Given the description of an element on the screen output the (x, y) to click on. 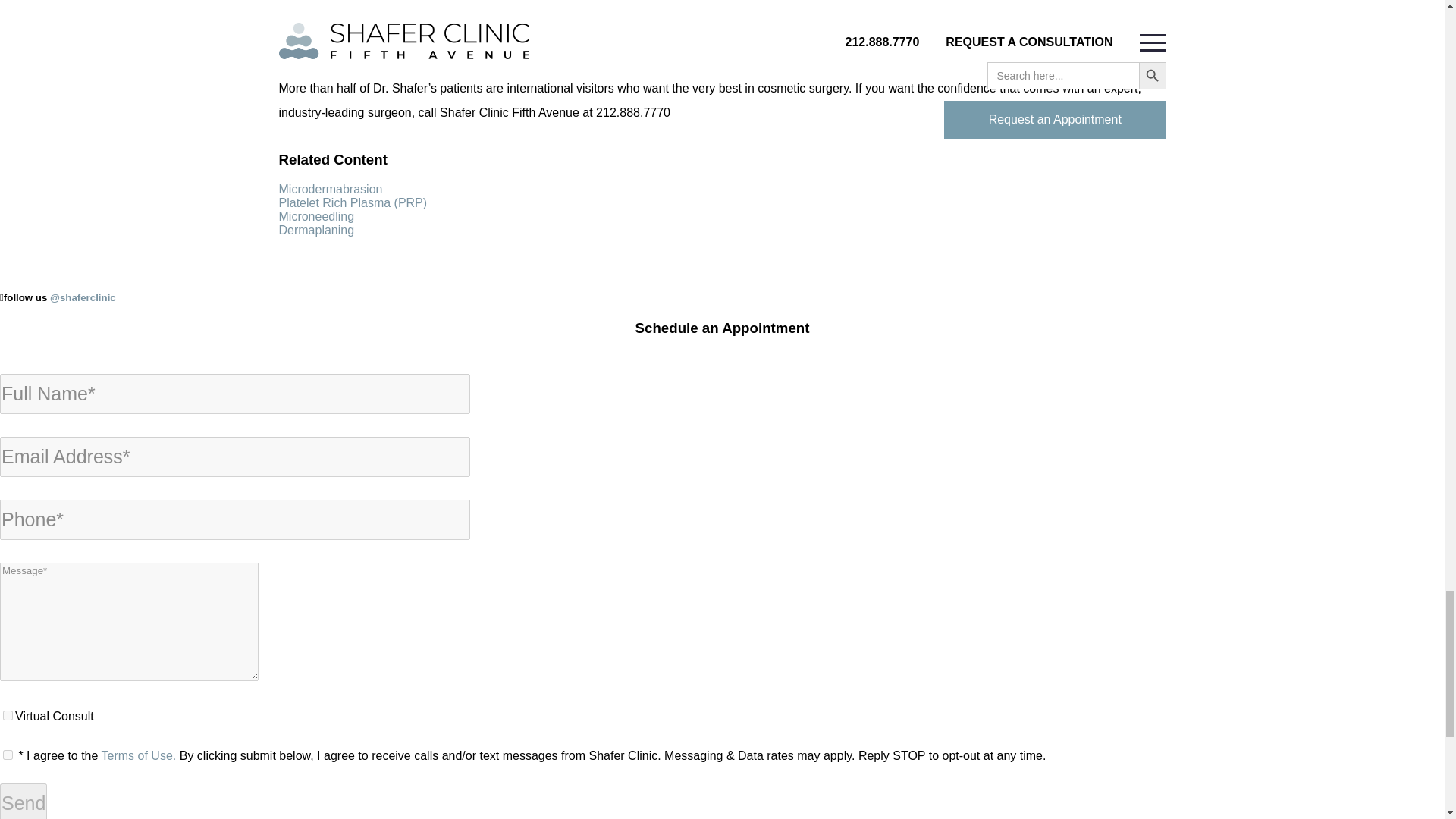
Virtual Consult (7, 715)
1 (7, 755)
Send (23, 800)
